Given the description of an element on the screen output the (x, y) to click on. 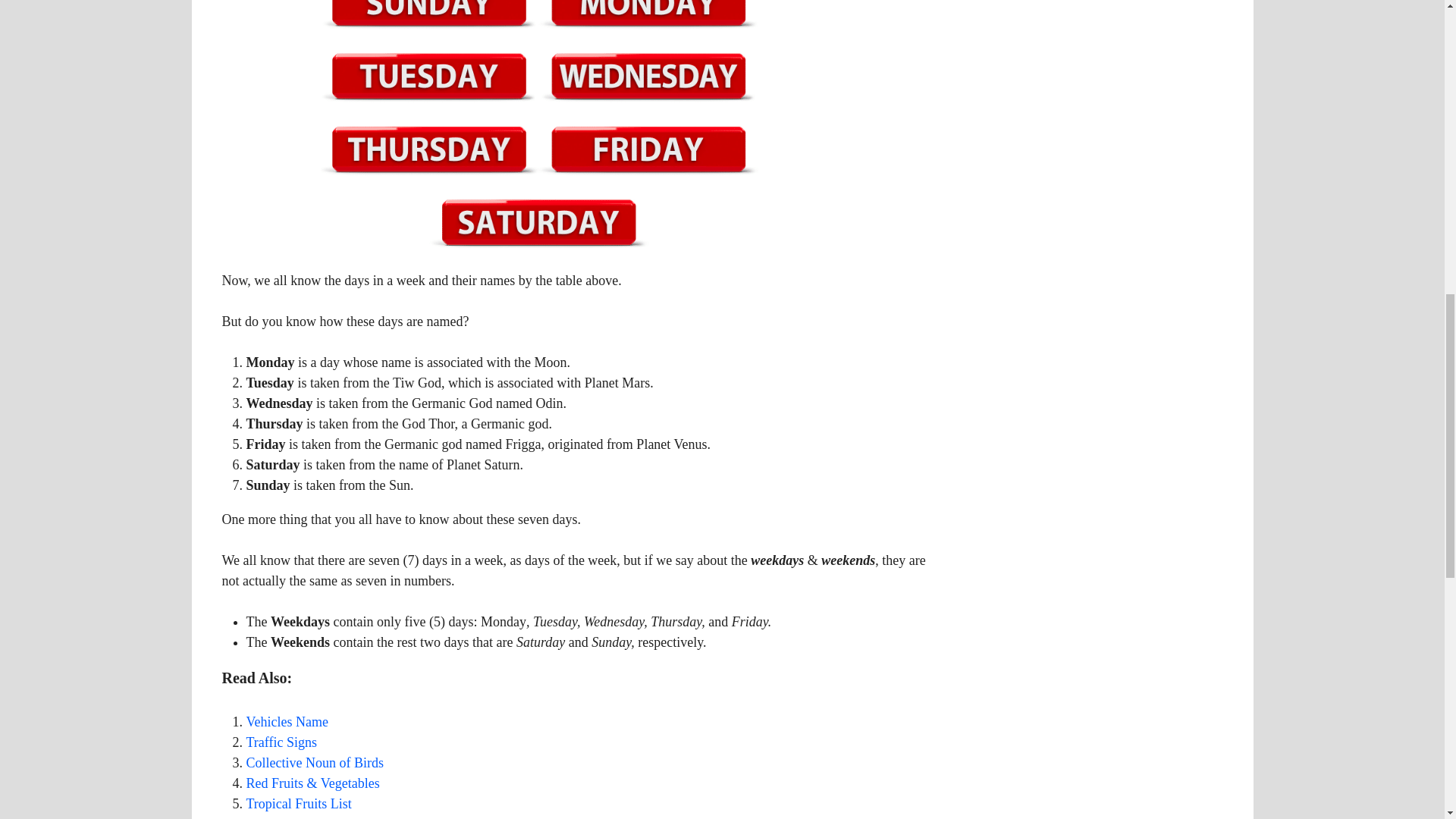
Family Members Name (310, 817)
Vehicles Name (286, 721)
Traffic Signs (281, 742)
Tropical Fruits List (298, 803)
Collective Noun of Birds (314, 762)
